Given the description of an element on the screen output the (x, y) to click on. 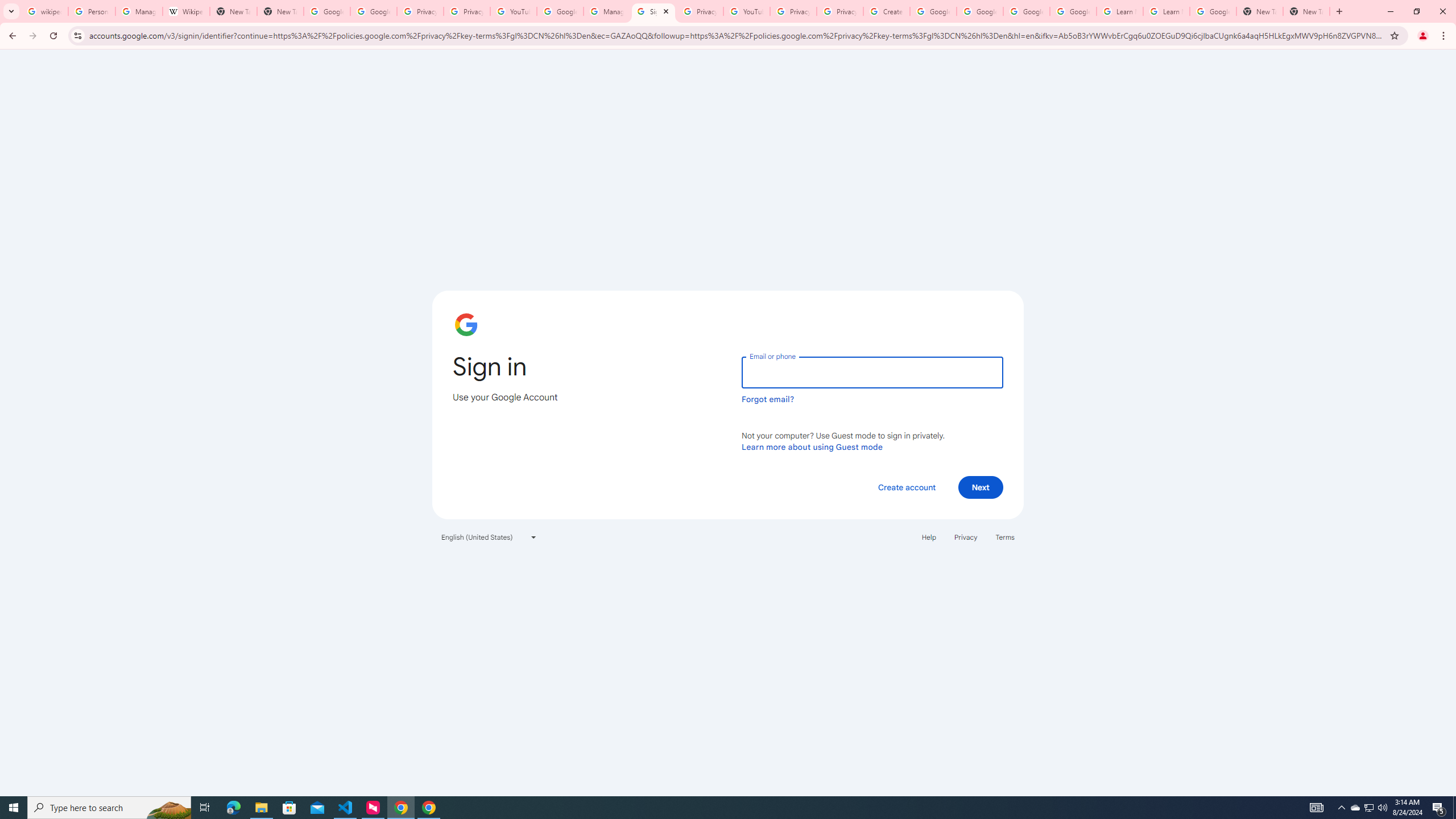
Google Account Help (1026, 11)
Personalization & Google Search results - Google Search Help (91, 11)
Email or phone (871, 372)
New Tab (1306, 11)
Forgot email? (767, 398)
Google Drive: Sign-in (373, 11)
YouTube (745, 11)
